Given the description of an element on the screen output the (x, y) to click on. 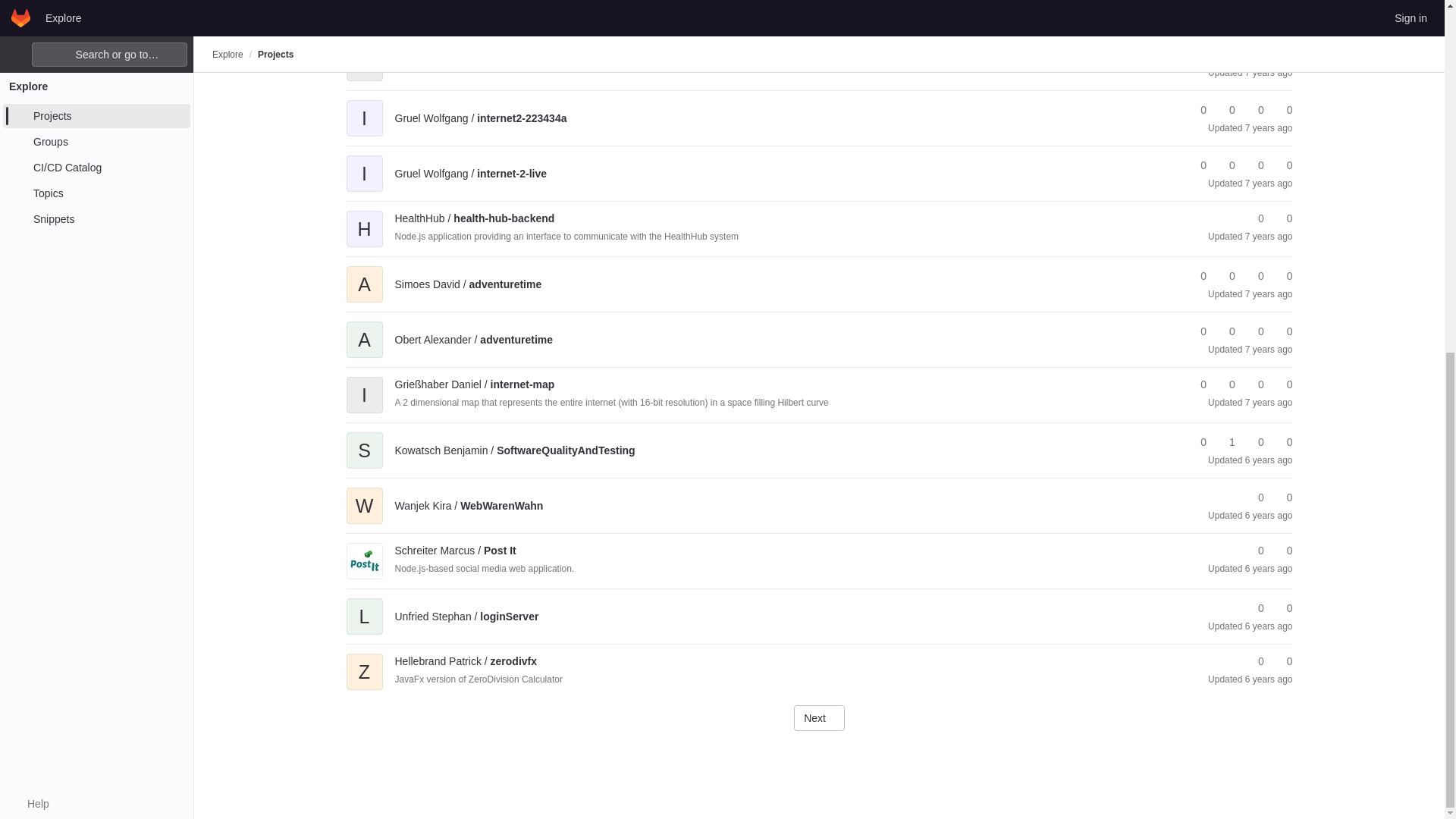
Help (30, 188)
